Given the description of an element on the screen output the (x, y) to click on. 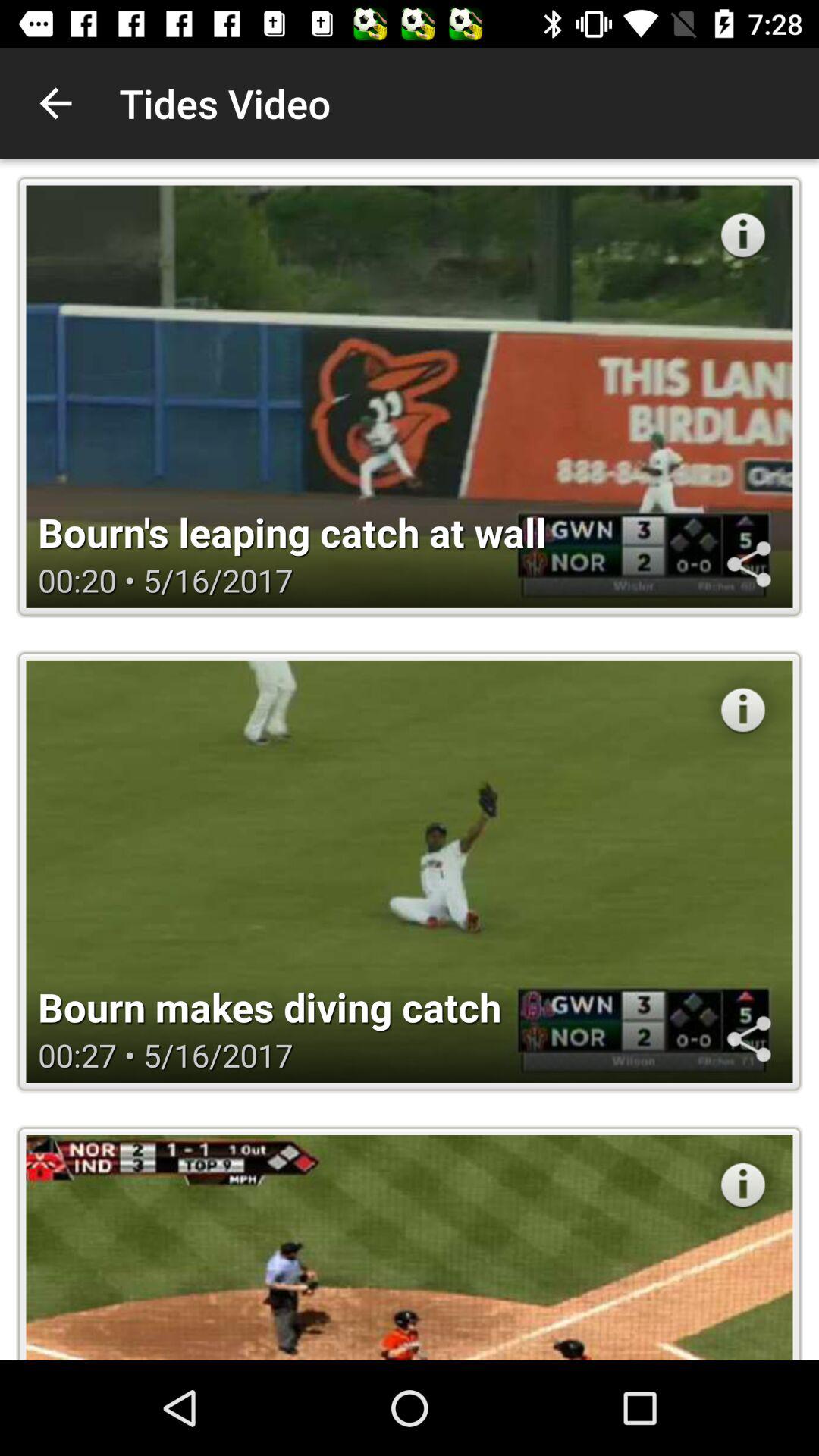
information button (742, 234)
